Given the description of an element on the screen output the (x, y) to click on. 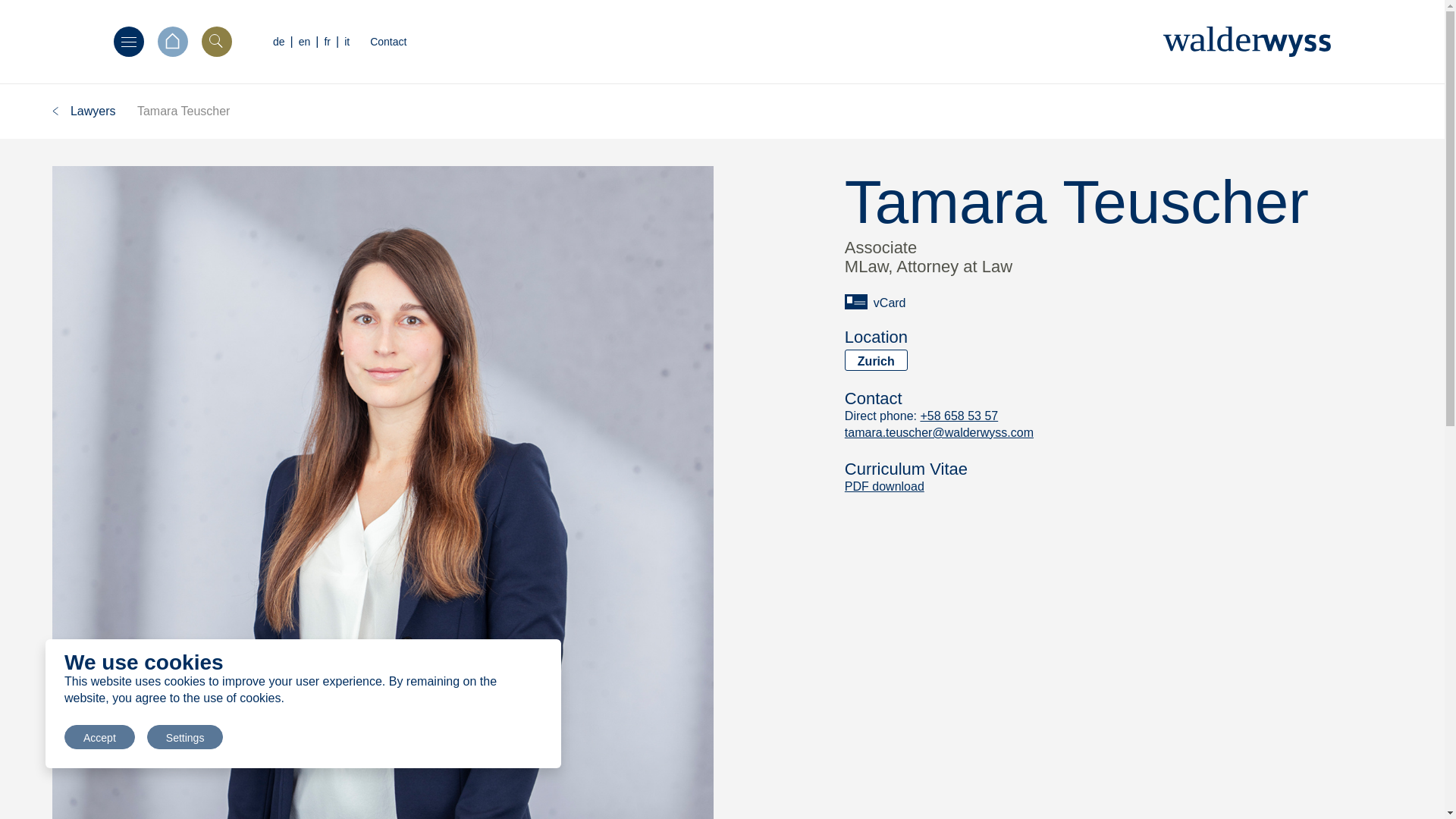
PDF download (884, 486)
Contact (387, 41)
Zurich (875, 360)
vCard (874, 301)
Lawyers (83, 110)
